Given the description of an element on the screen output the (x, y) to click on. 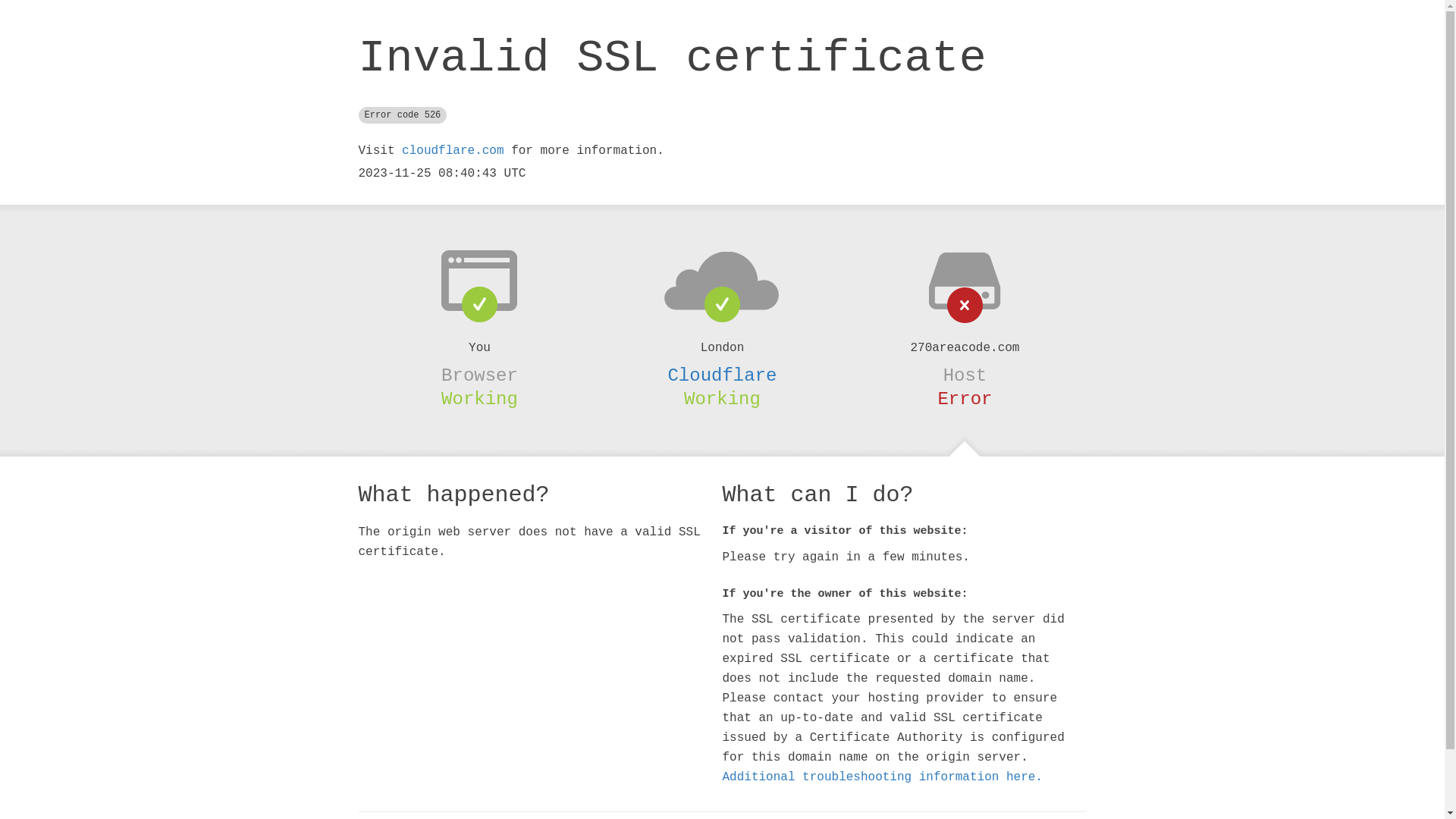
cloudflare.com Element type: text (452, 150)
Cloudflare Element type: text (721, 375)
Additional troubleshooting information here. Element type: text (881, 777)
